Given the description of an element on the screen output the (x, y) to click on. 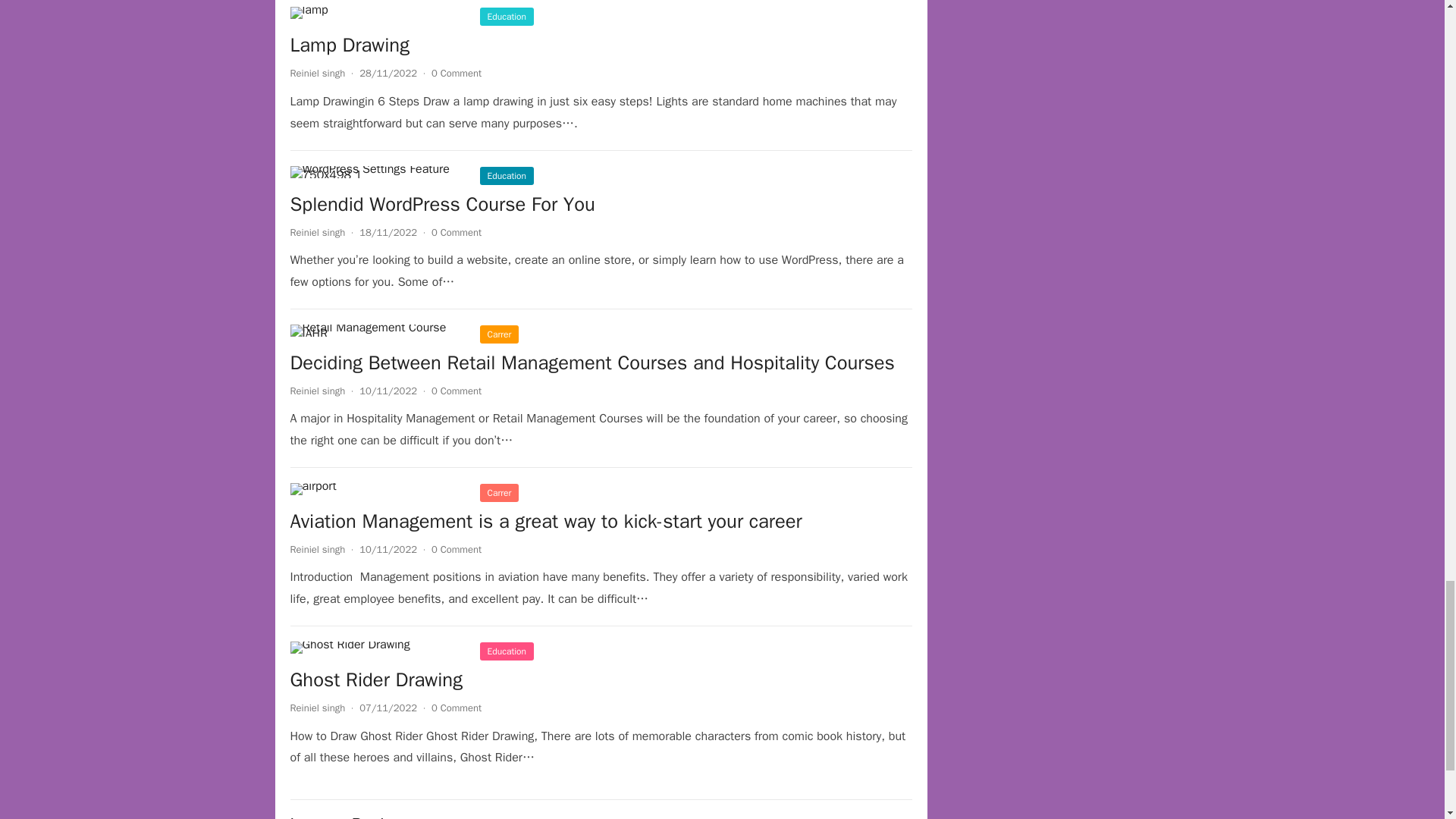
Posts by Reiniel singh (317, 232)
Splendid WordPress Course For You (376, 172)
Posts by Reiniel singh (317, 72)
Lamp Drawing (308, 12)
